Given the description of an element on the screen output the (x, y) to click on. 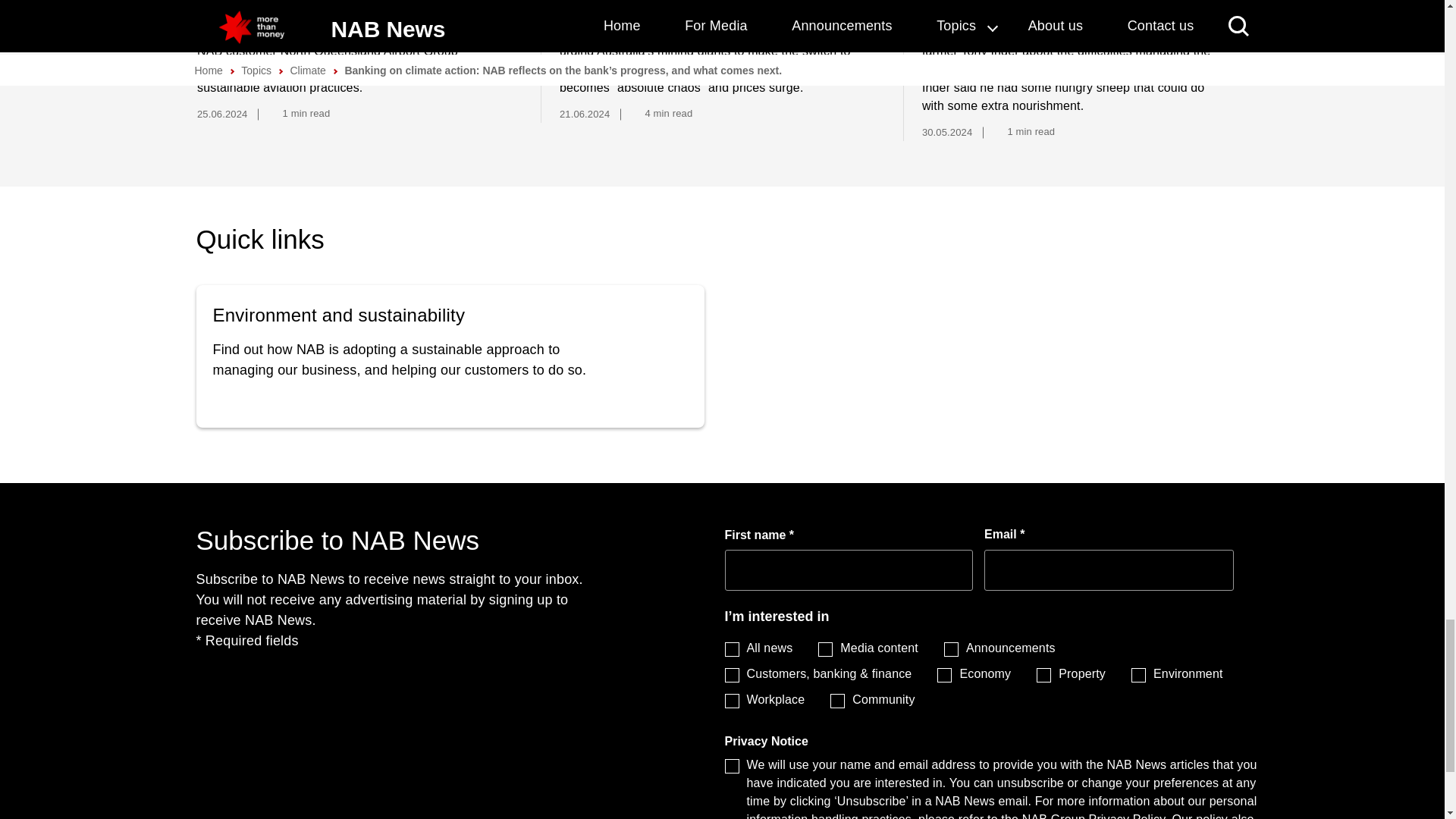
UON warns mining industry of rush to decarbonise (706, 7)
Find Our More (449, 356)
Grass is greener for solar-powered sheep (1068, 7)
